Given the description of an element on the screen output the (x, y) to click on. 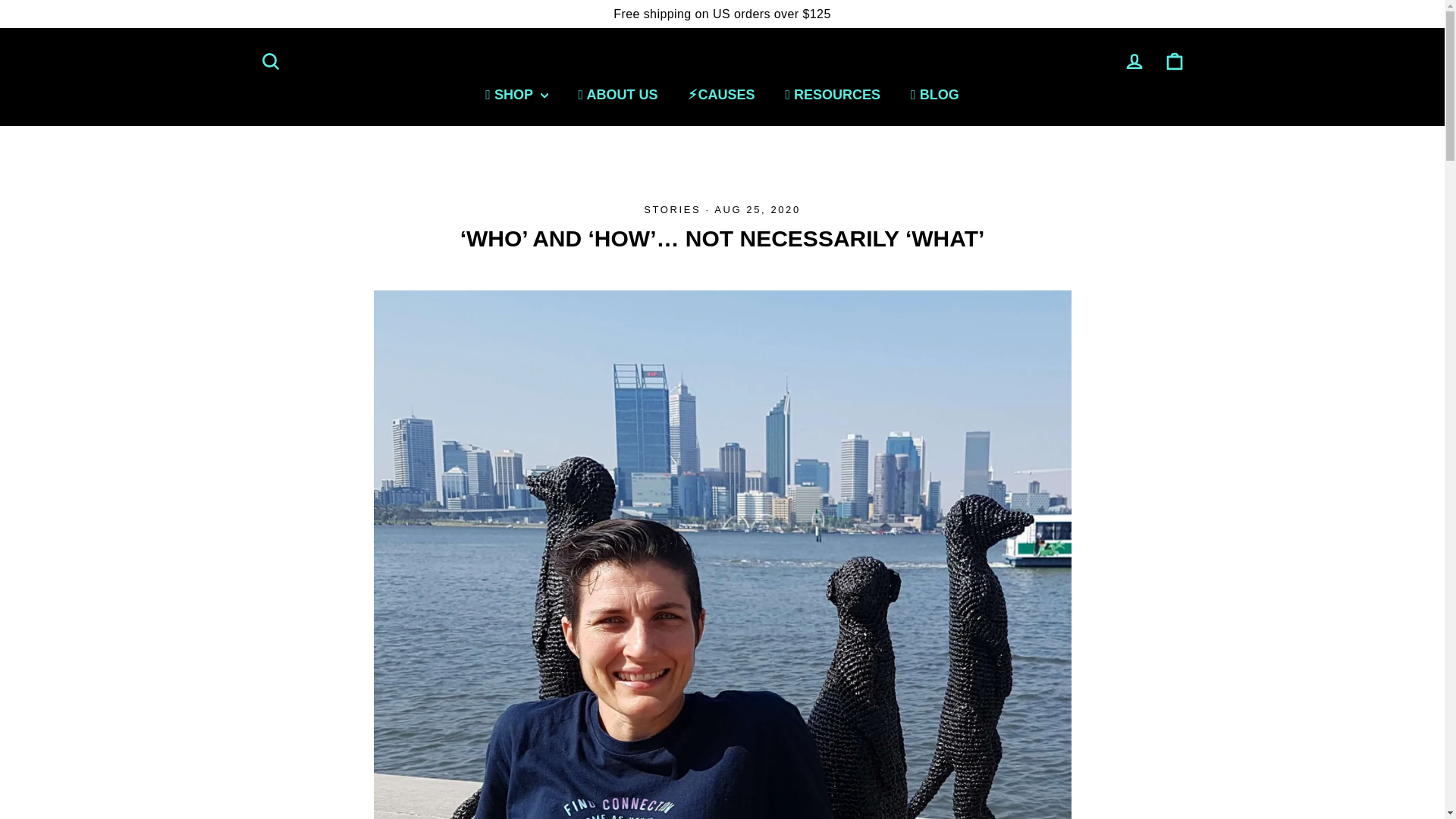
ICON-SEARCH (270, 61)
ACCOUNT (1173, 61)
ICON-BAG-MINIMAL (1134, 61)
